Given the description of an element on the screen output the (x, y) to click on. 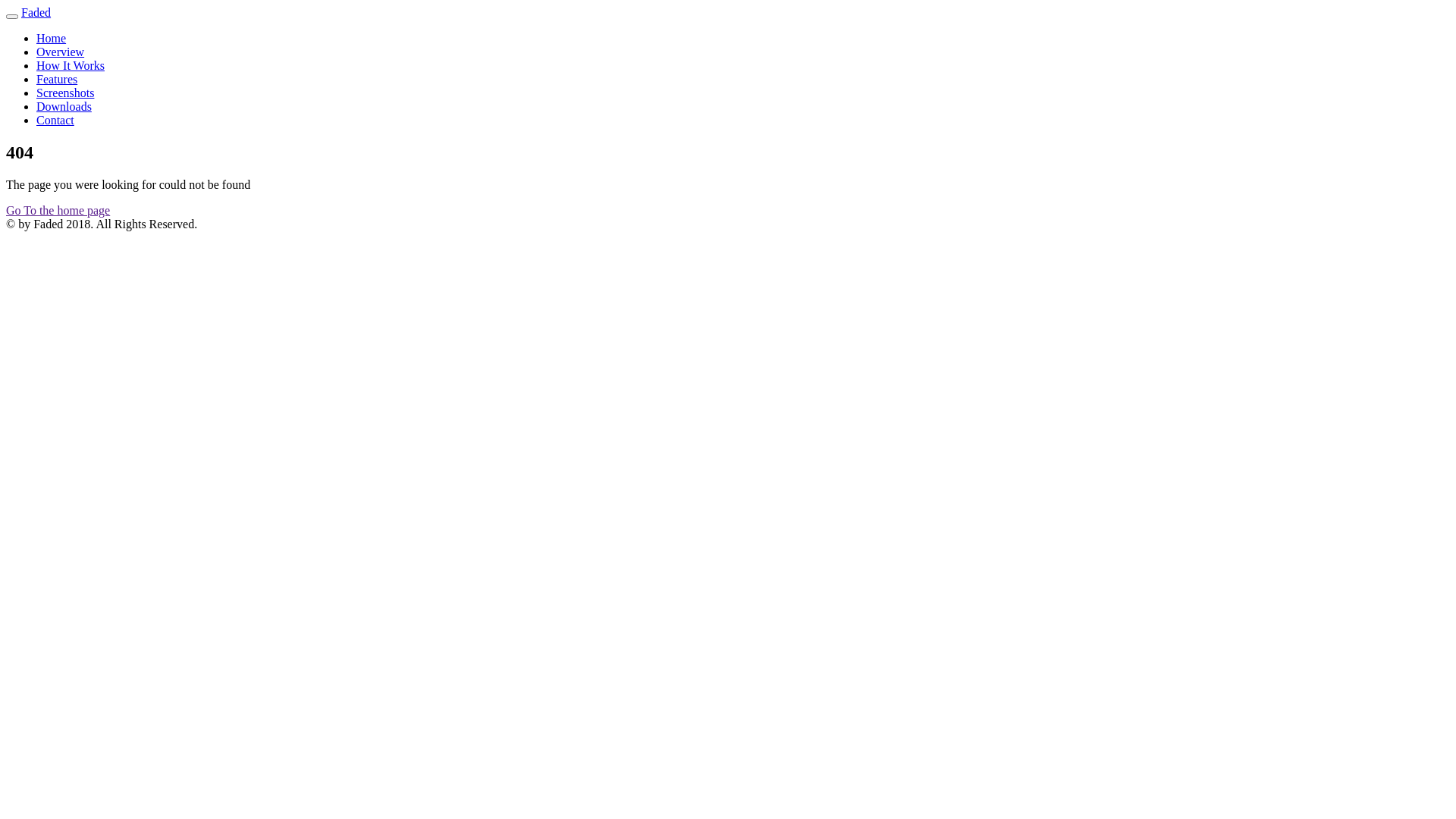
Screenshots Element type: text (65, 92)
Features Element type: text (56, 78)
Home Element type: text (50, 37)
Go To the home page Element type: text (57, 209)
Downloads Element type: text (63, 106)
Overview Element type: text (60, 51)
Contact Element type: text (55, 119)
Faded Element type: text (35, 12)
How It Works Element type: text (70, 65)
